Given the description of an element on the screen output the (x, y) to click on. 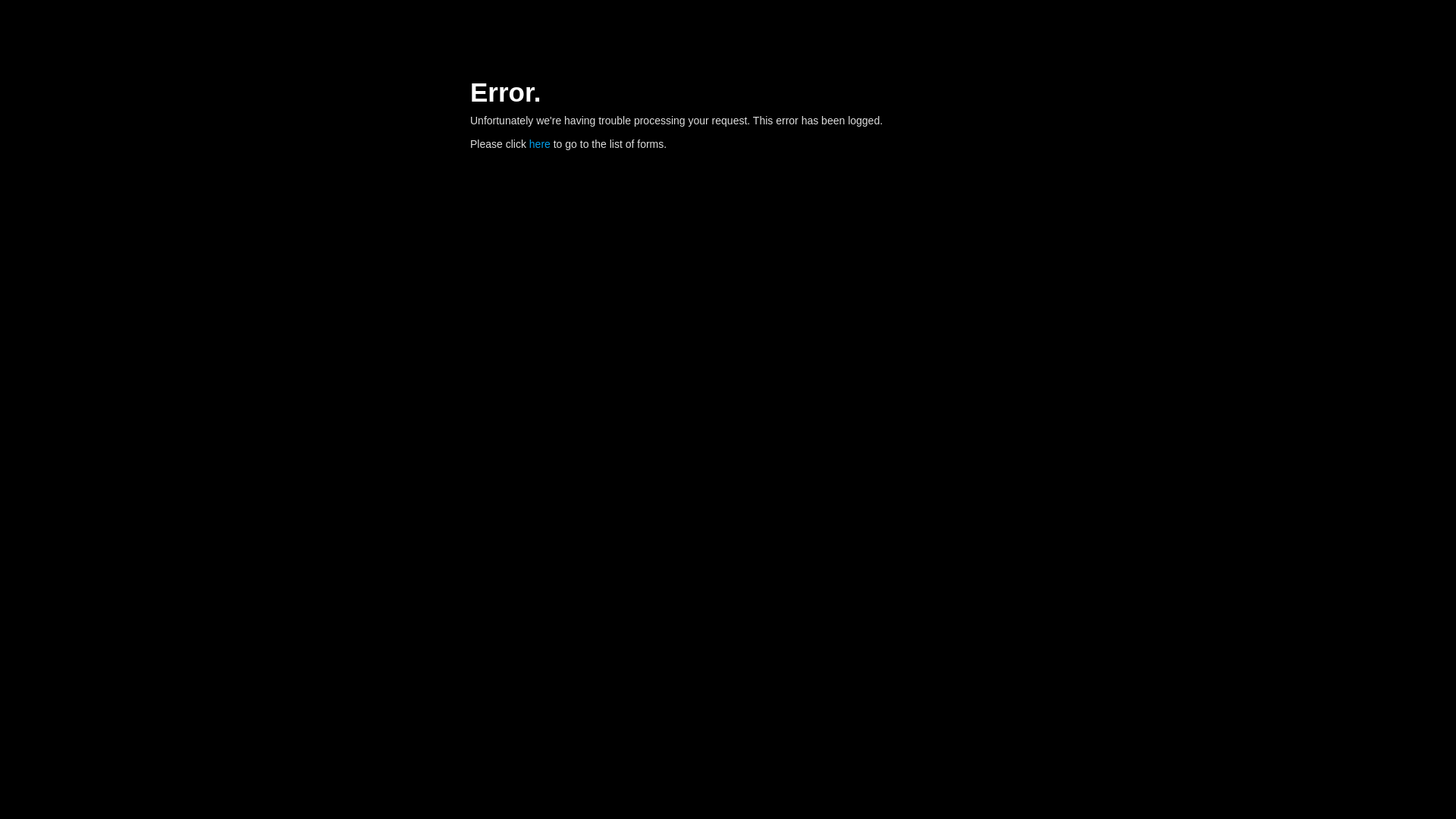
here Element type: text (539, 144)
